Given the description of an element on the screen output the (x, y) to click on. 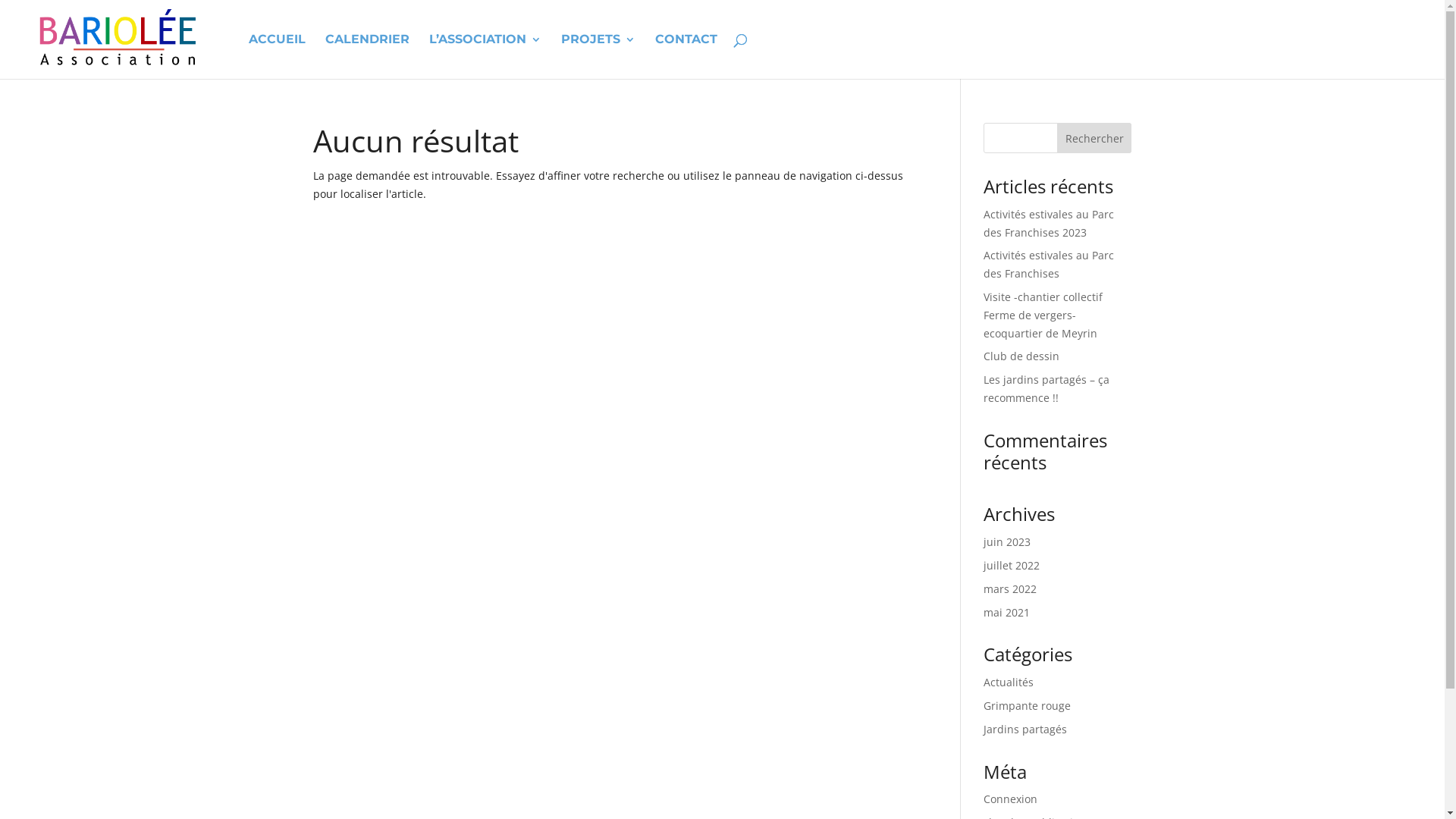
mars 2022 Element type: text (1009, 588)
Rechercher Element type: text (1094, 137)
CALENDRIER Element type: text (367, 56)
juillet 2022 Element type: text (1011, 565)
Grimpante rouge Element type: text (1026, 705)
Club de dessin Element type: text (1021, 355)
juin 2023 Element type: text (1006, 541)
mai 2021 Element type: text (1006, 612)
Connexion Element type: text (1010, 798)
CONTACT Element type: text (686, 56)
ACCUEIL Element type: text (276, 56)
PROJETS Element type: text (598, 56)
